Given the description of an element on the screen output the (x, y) to click on. 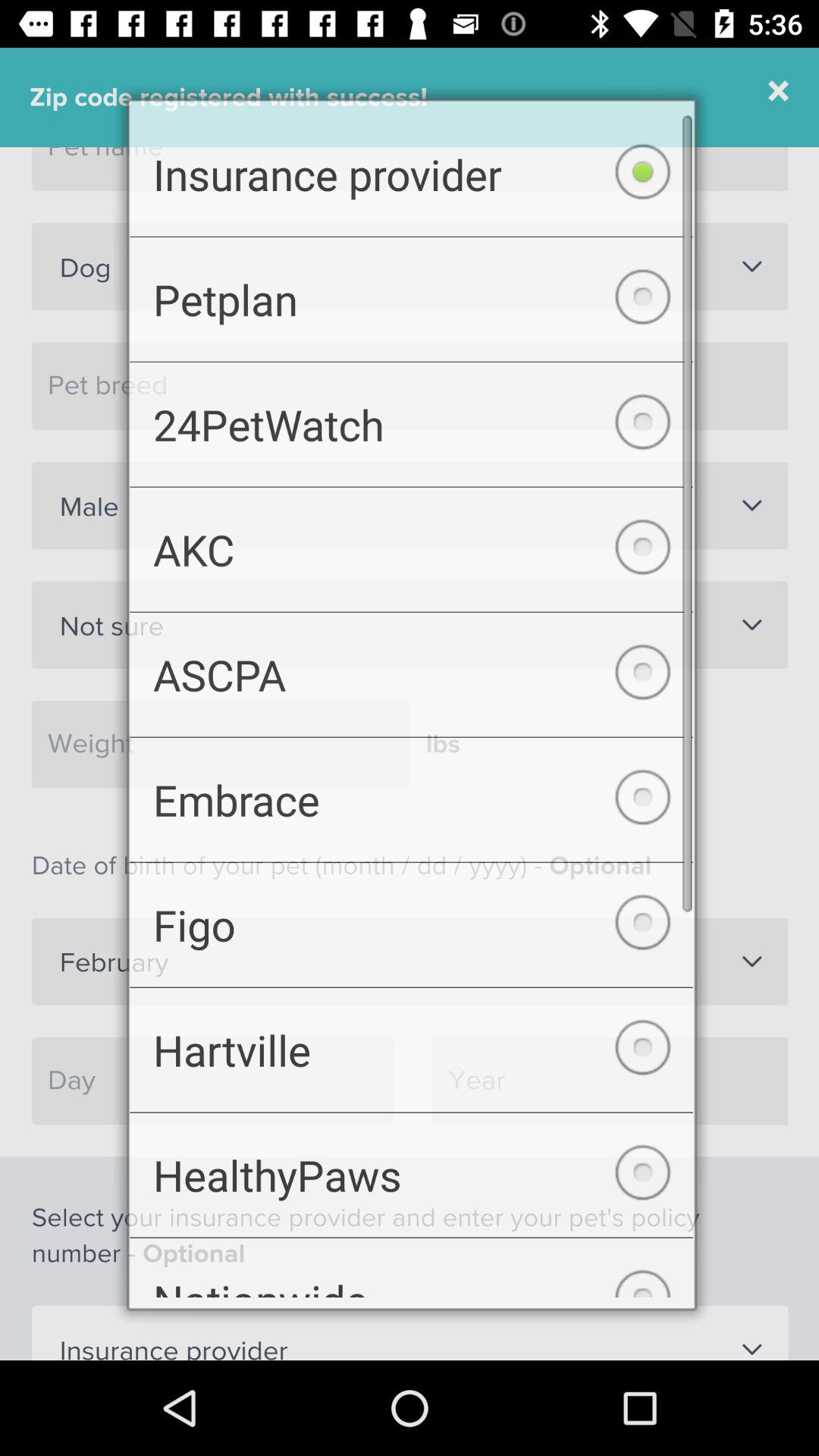
tap checkbox below akc icon (411, 673)
